Given the description of an element on the screen output the (x, y) to click on. 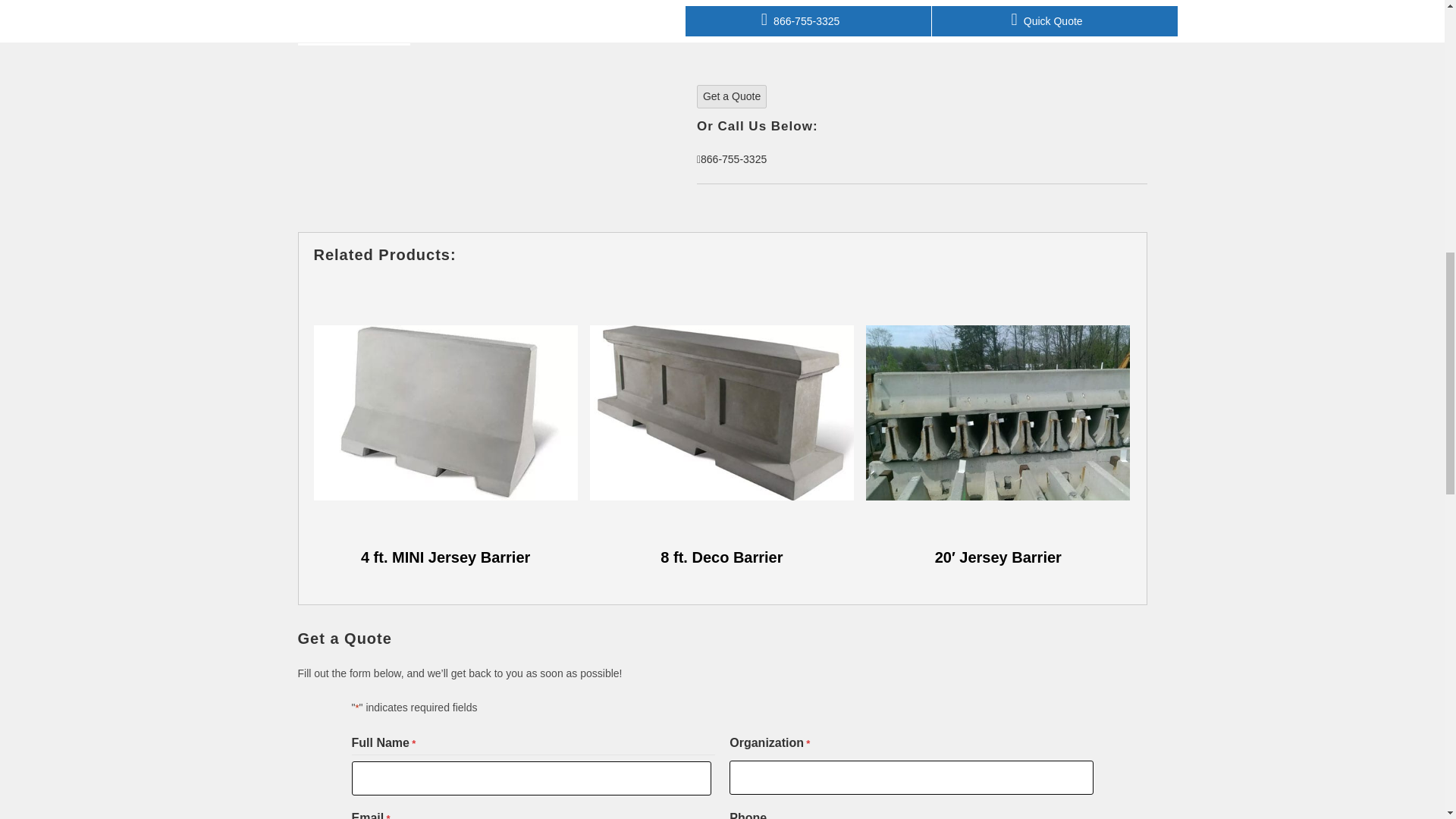
8 ft. Deco Barrier (721, 424)
Get a Quote (732, 96)
Get a Quote (732, 96)
866-755-3325 (732, 159)
Click Here for Concrete Stain Colors (782, 38)
4 ft. MINI Jersey Barrier (446, 424)
